Given the description of an element on the screen output the (x, y) to click on. 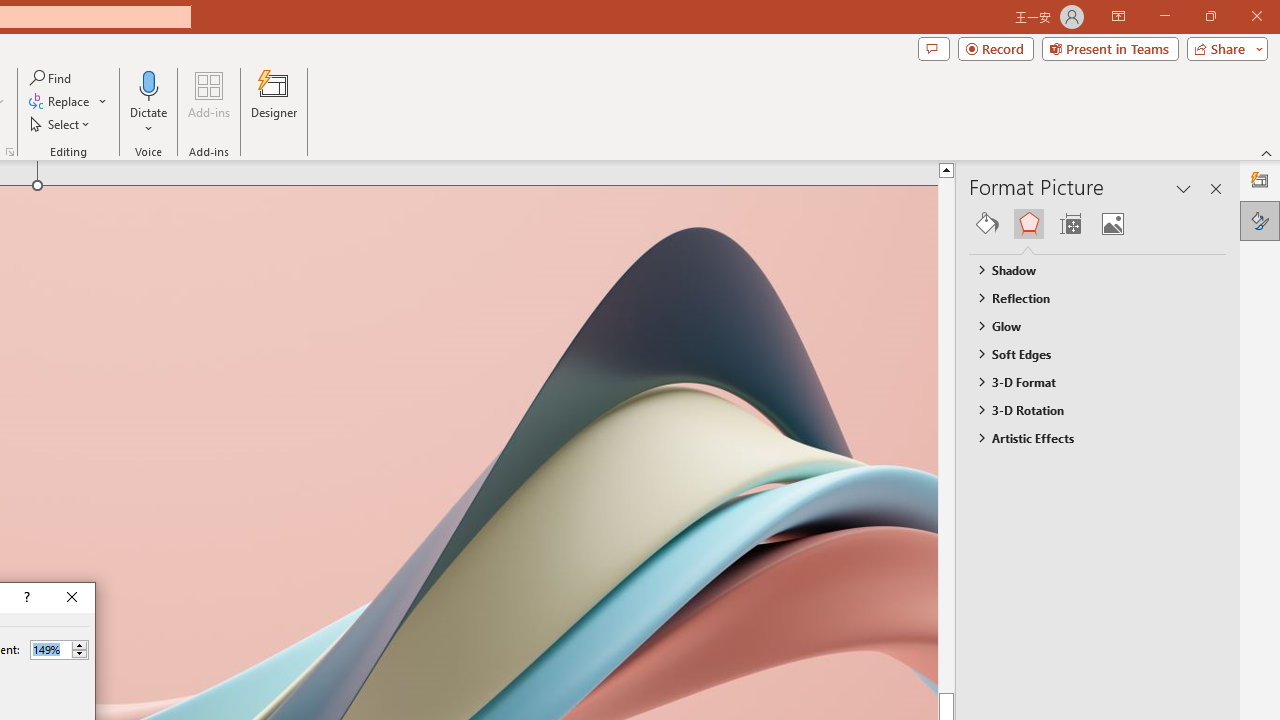
Fill & Line (987, 223)
Percent (59, 650)
Select (61, 124)
Format Picture (1260, 220)
